Given the description of an element on the screen output the (x, y) to click on. 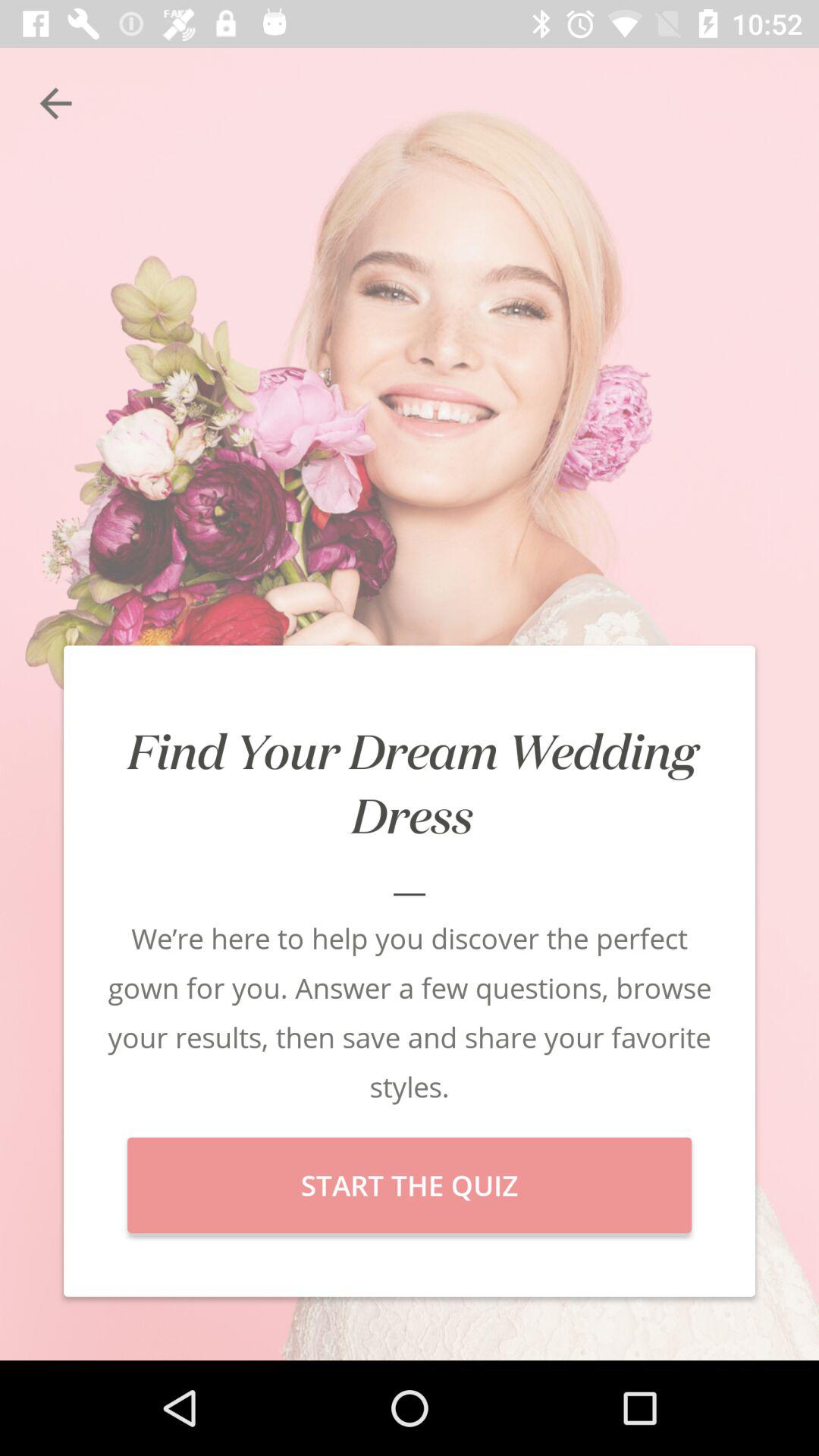
to return (55, 103)
